Given the description of an element on the screen output the (x, y) to click on. 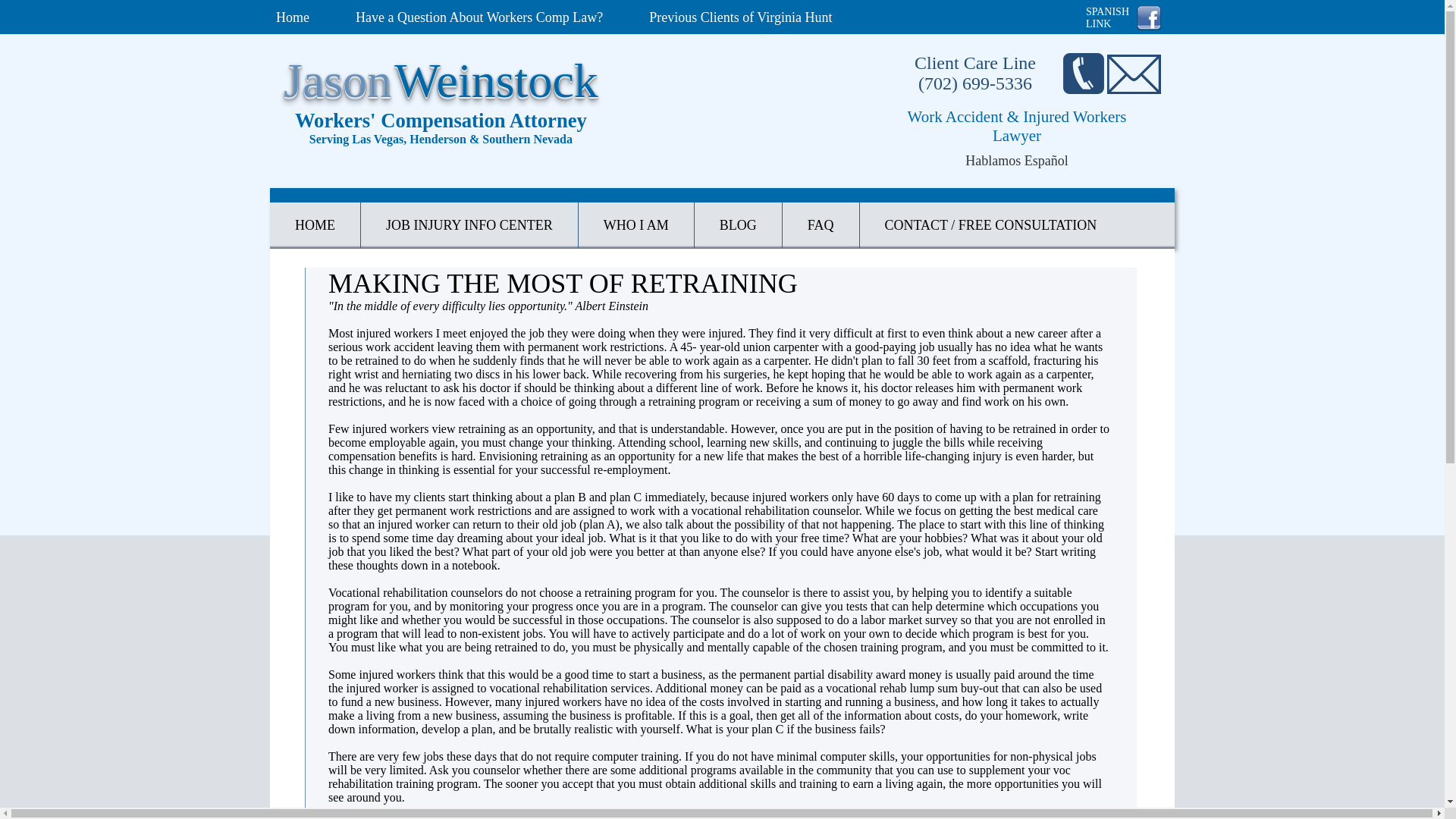
FAQ (821, 225)
JOB INJURY INFO CENTER (1107, 17)
Previous Clients of Virginia Hunt (469, 225)
WHO I AM (740, 17)
HOME (636, 225)
Have a Question About Workers Comp Law? (314, 225)
Home (478, 17)
BLOG (292, 17)
